Given the description of an element on the screen output the (x, y) to click on. 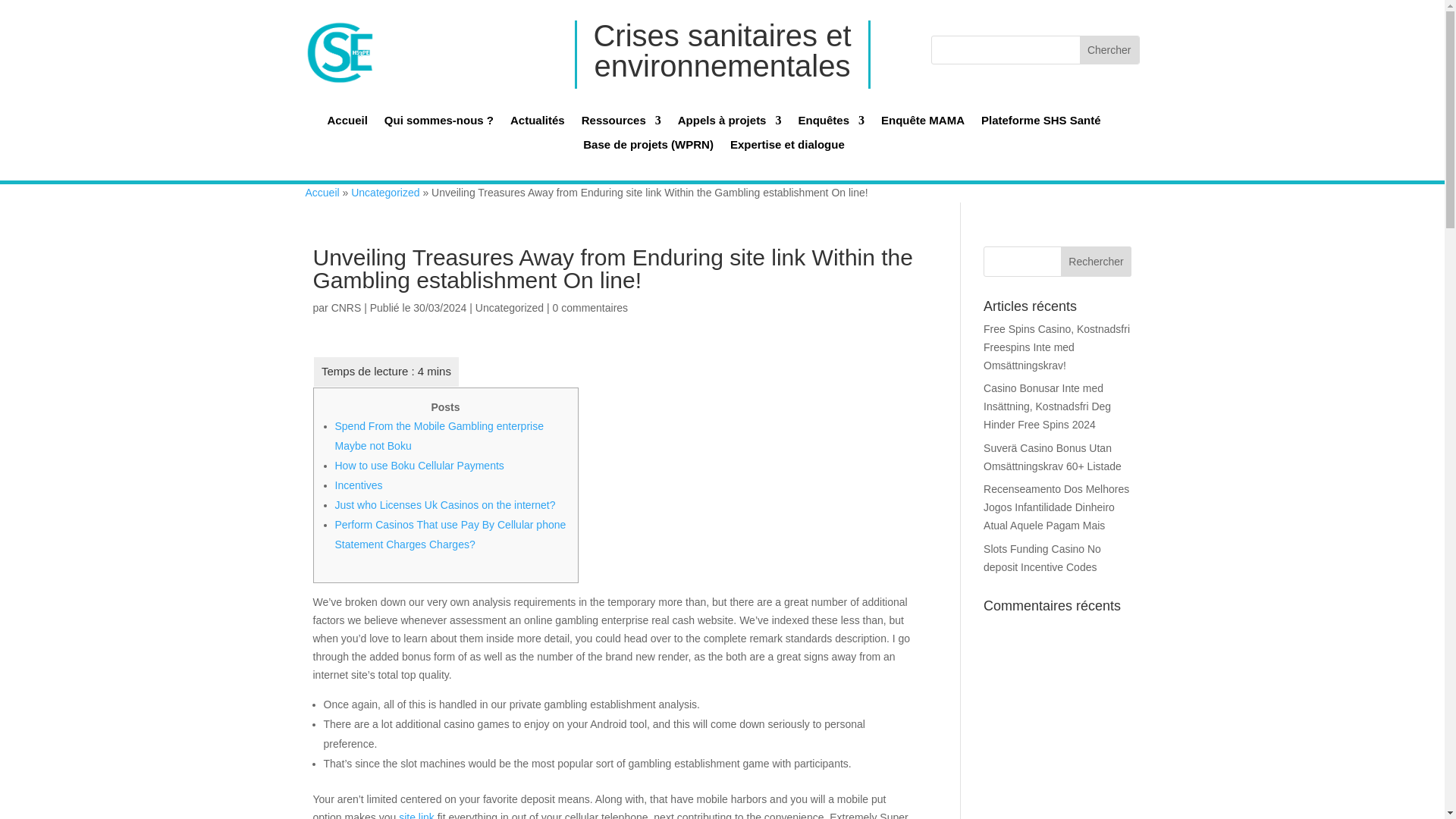
Ressources (620, 124)
Chercher (1109, 34)
logoHS3PE copie (325, 39)
Rechercher (1096, 261)
Expertise et dialogue (787, 148)
Accueil (346, 124)
Qui sommes-nous ? (438, 124)
Chercher (1109, 49)
Chercher (1109, 34)
Chercher (1109, 49)
Chercher (1109, 49)
Articles de CNRS (346, 307)
logoHS3PE copie (339, 52)
